Given the description of an element on the screen output the (x, y) to click on. 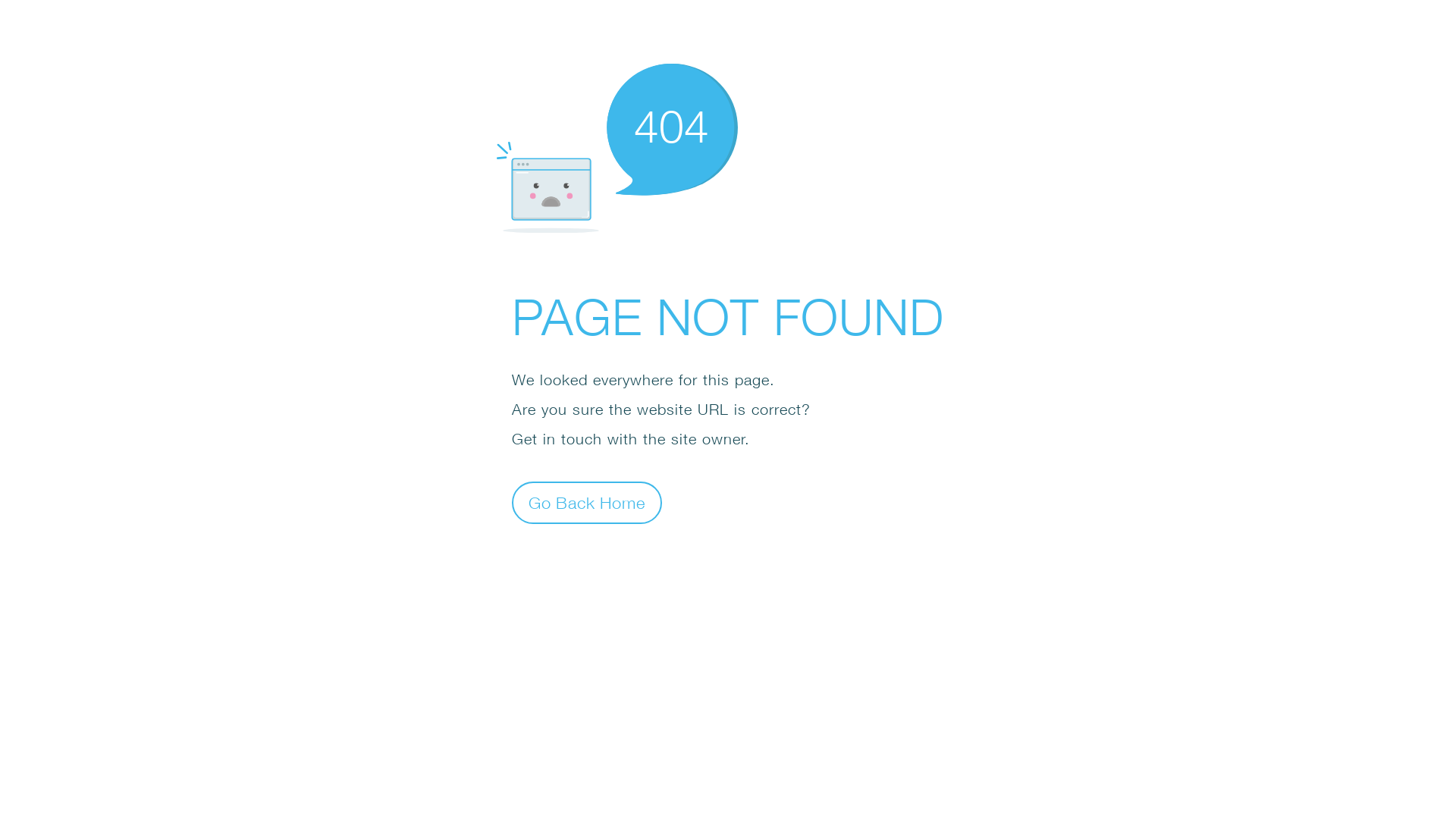
Go Back Home Element type: text (586, 502)
